Given the description of an element on the screen output the (x, y) to click on. 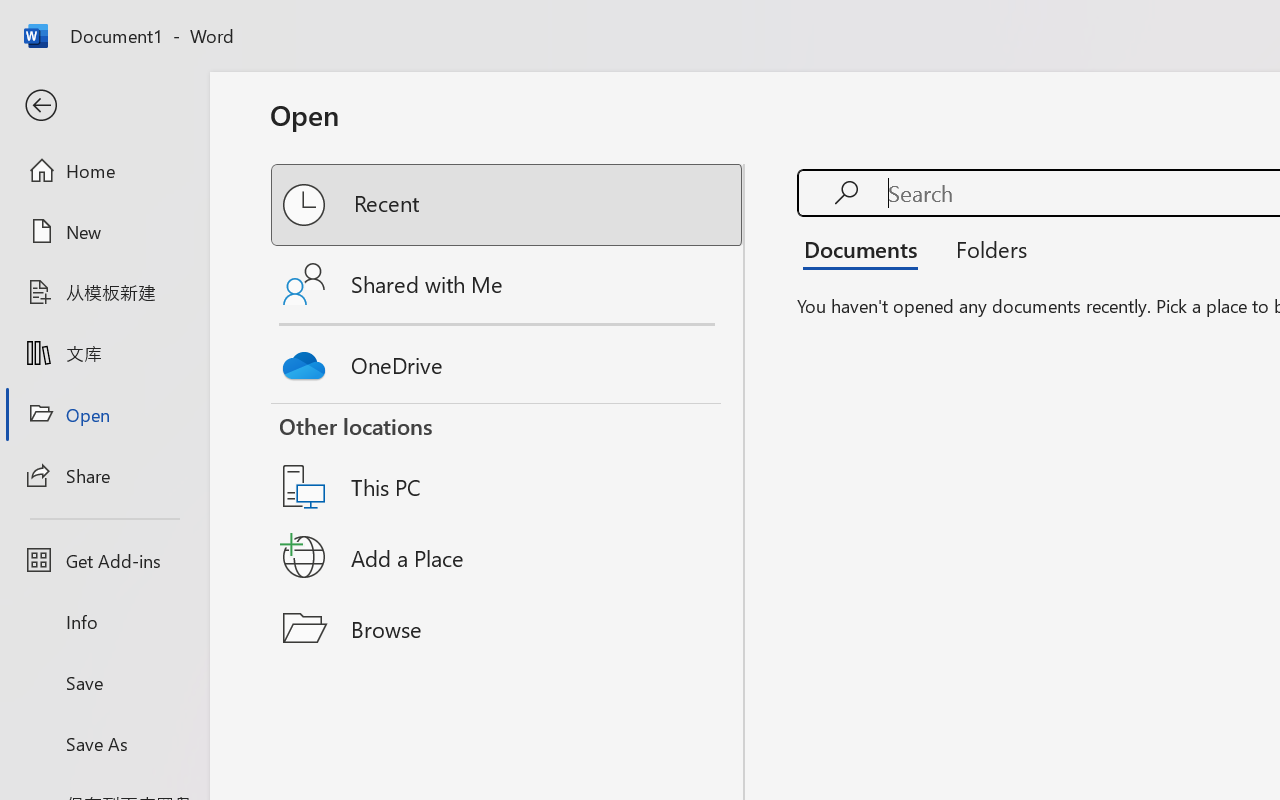
Shared with Me (507, 283)
Back (104, 106)
Documents (866, 248)
Save As (104, 743)
Folders (984, 248)
